Given the description of an element on the screen output the (x, y) to click on. 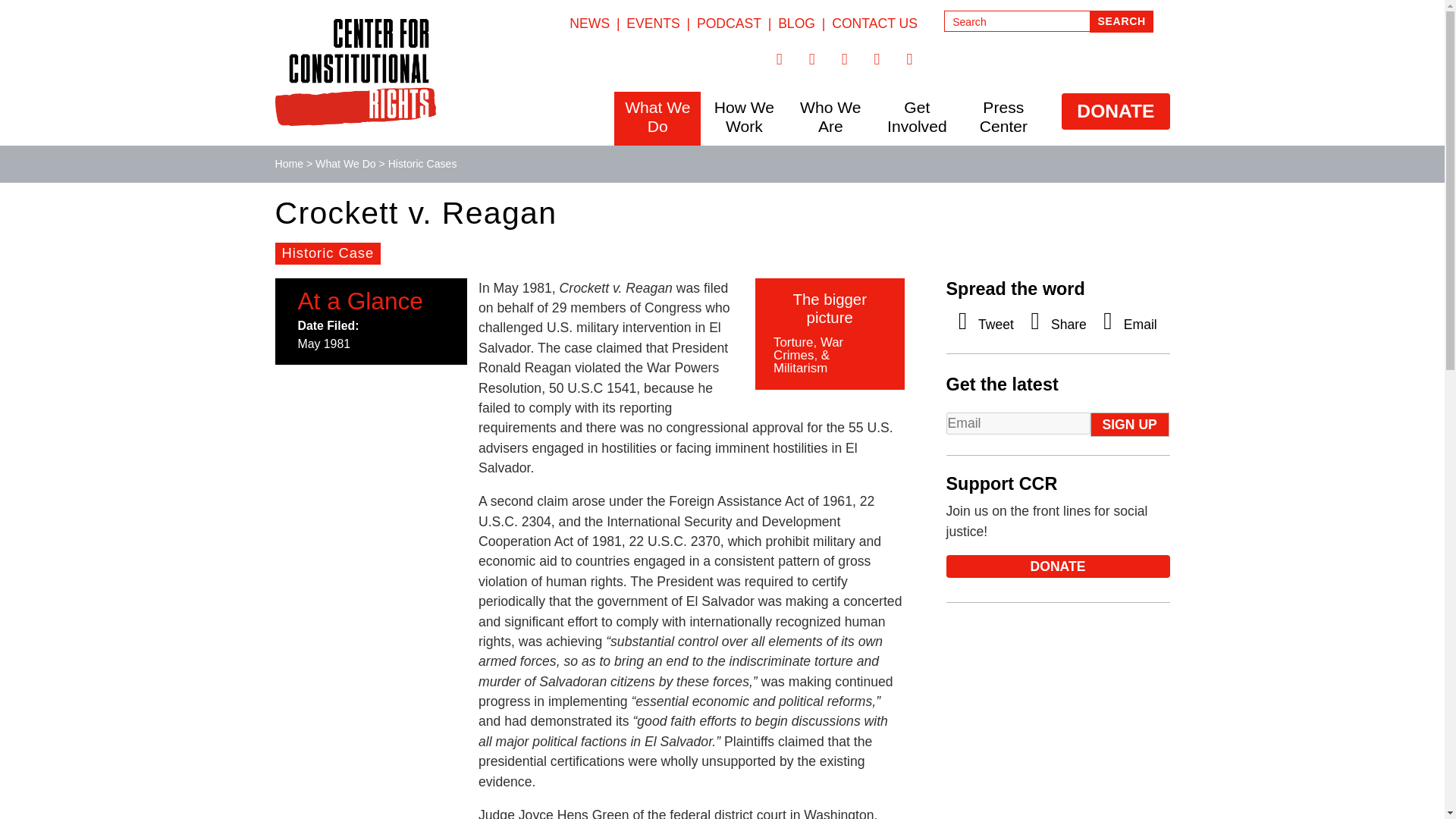
Search (1121, 20)
CONTACT US (874, 23)
BLOG (796, 23)
Enter the terms you wish to search for. (1016, 20)
PODCAST (729, 23)
Search (1121, 20)
Sign Up (1129, 424)
What We Do (657, 116)
NEWS (589, 23)
DONATE (1115, 111)
EVENTS (652, 23)
